Given the description of an element on the screen output the (x, y) to click on. 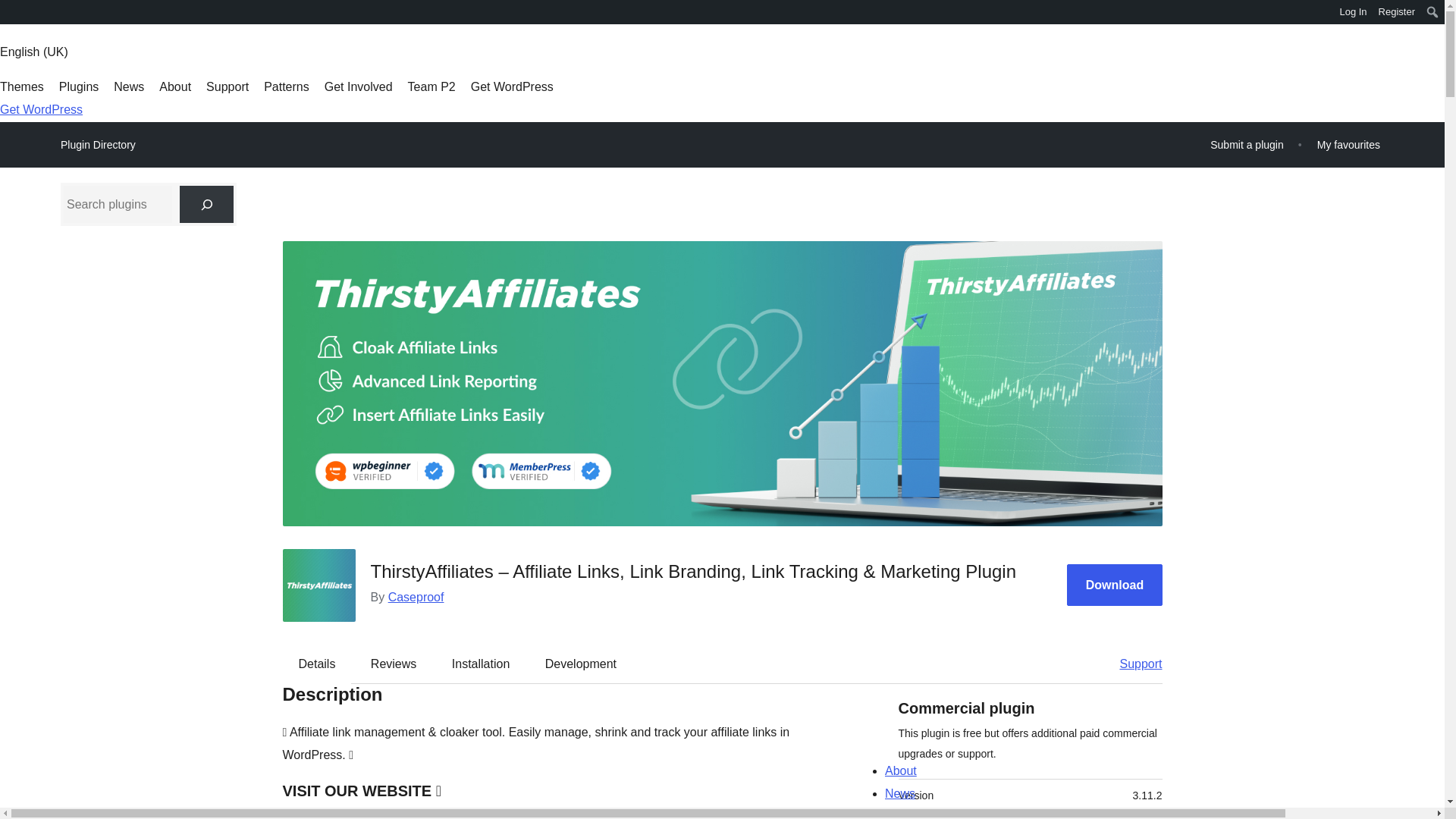
Get WordPress (511, 87)
Patterns (285, 87)
Support (1132, 664)
My favourites (1348, 144)
Installation (480, 664)
Reviews (392, 664)
Log In (1353, 12)
Plugins (79, 87)
Plugin Directory (97, 144)
Register (1397, 12)
